Given the description of an element on the screen output the (x, y) to click on. 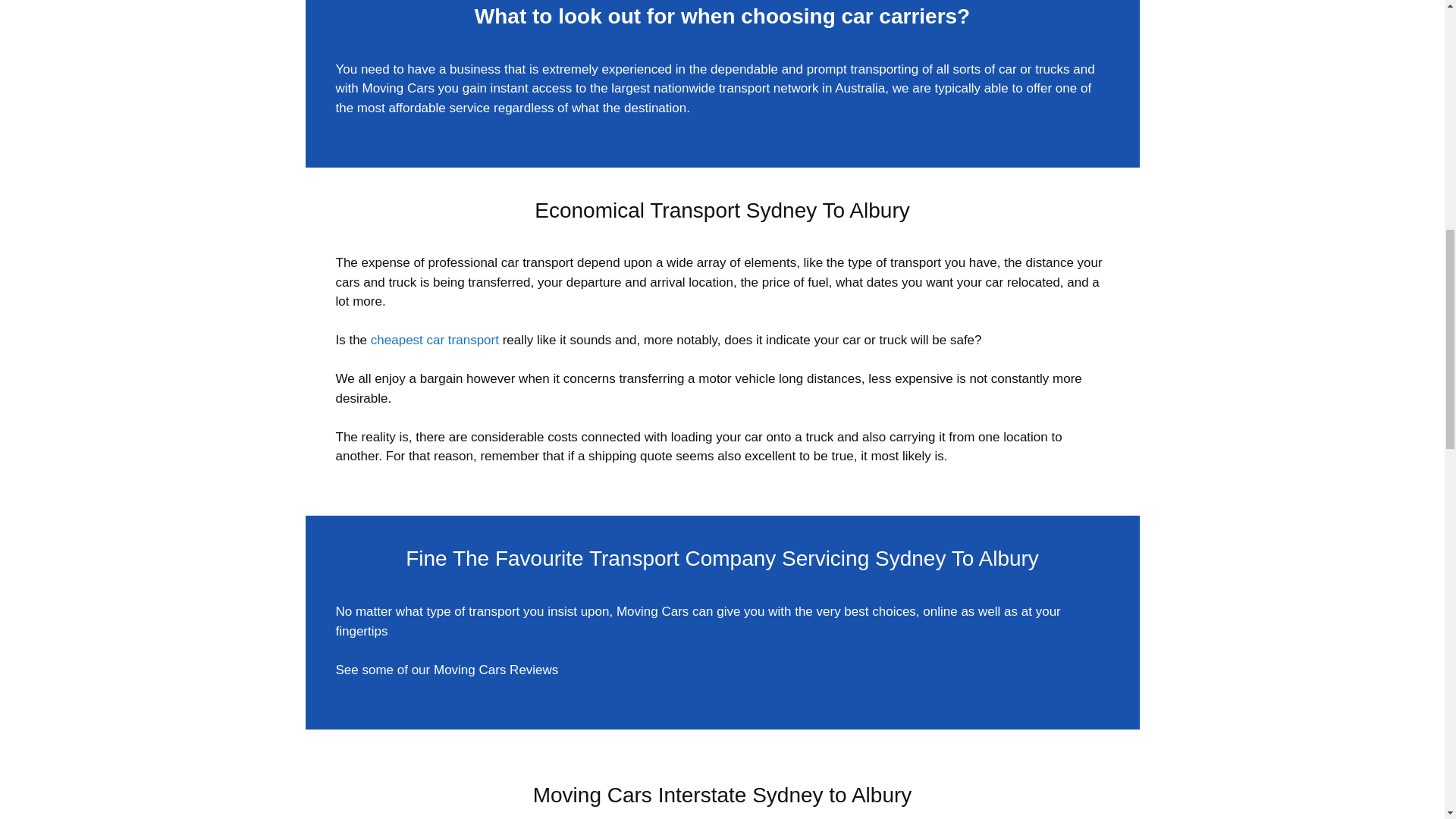
Moving Cars (397, 88)
cheapest car transport (435, 339)
Moving Cars Reviews (495, 669)
